Given the description of an element on the screen output the (x, y) to click on. 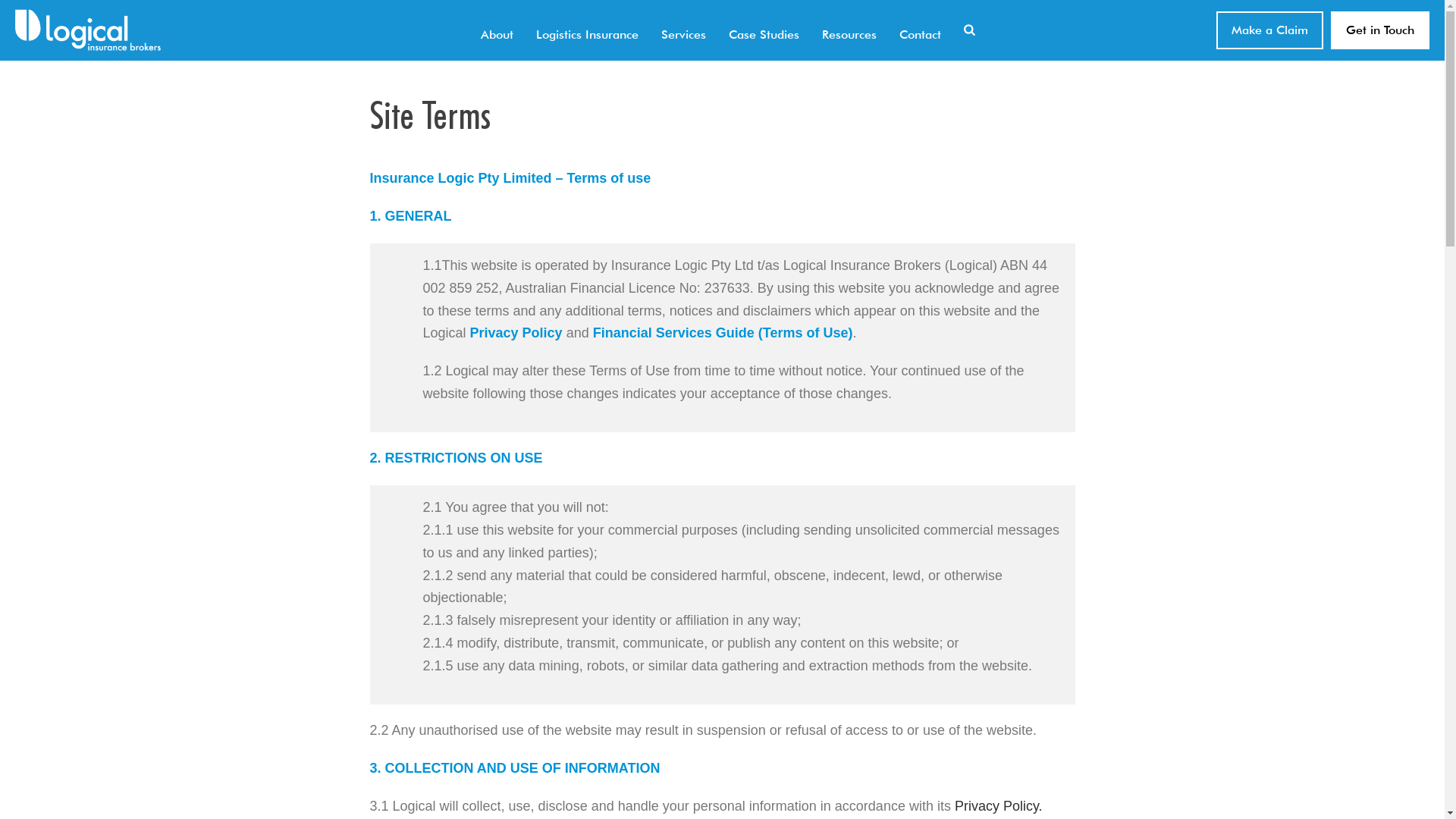
Privacy Policy Element type: text (516, 332)
Logistics Insurance Element type: text (586, 30)
Case Studies Element type: text (763, 30)
Get in Touch Element type: text (1379, 30)
Services Element type: text (683, 30)
Make a Claim Element type: text (1269, 30)
Resources Element type: text (849, 30)
Privacy Policy. Element type: text (998, 805)
About Element type: text (496, 30)
Financial Services Guide  Element type: text (675, 332)
General Insurance Broking, Sydney Element type: hover (87, 29)
Contact Element type: text (920, 30)
